Given the description of an element on the screen output the (x, y) to click on. 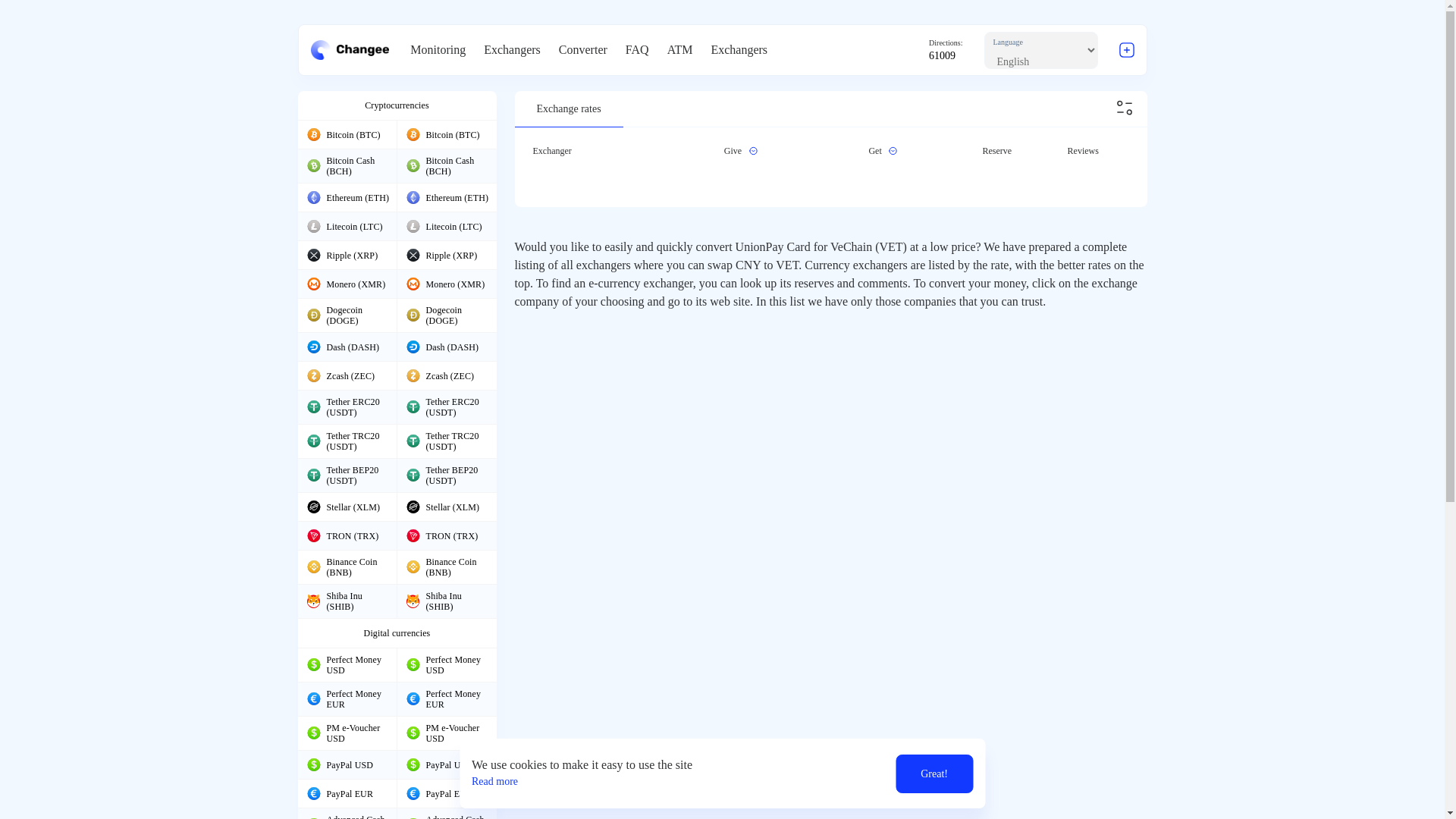
Monero (312, 284)
Converter (583, 49)
Monitoring (437, 49)
Monero (413, 284)
add (1126, 49)
Exchangers (511, 49)
Ripple (312, 255)
Ripple (413, 255)
Bitcoin (413, 133)
Dogecoin (413, 315)
ATM (679, 49)
Exchangers (738, 49)
Zcash (413, 375)
Litecoin (312, 226)
Bitcoin (312, 133)
